Given the description of an element on the screen output the (x, y) to click on. 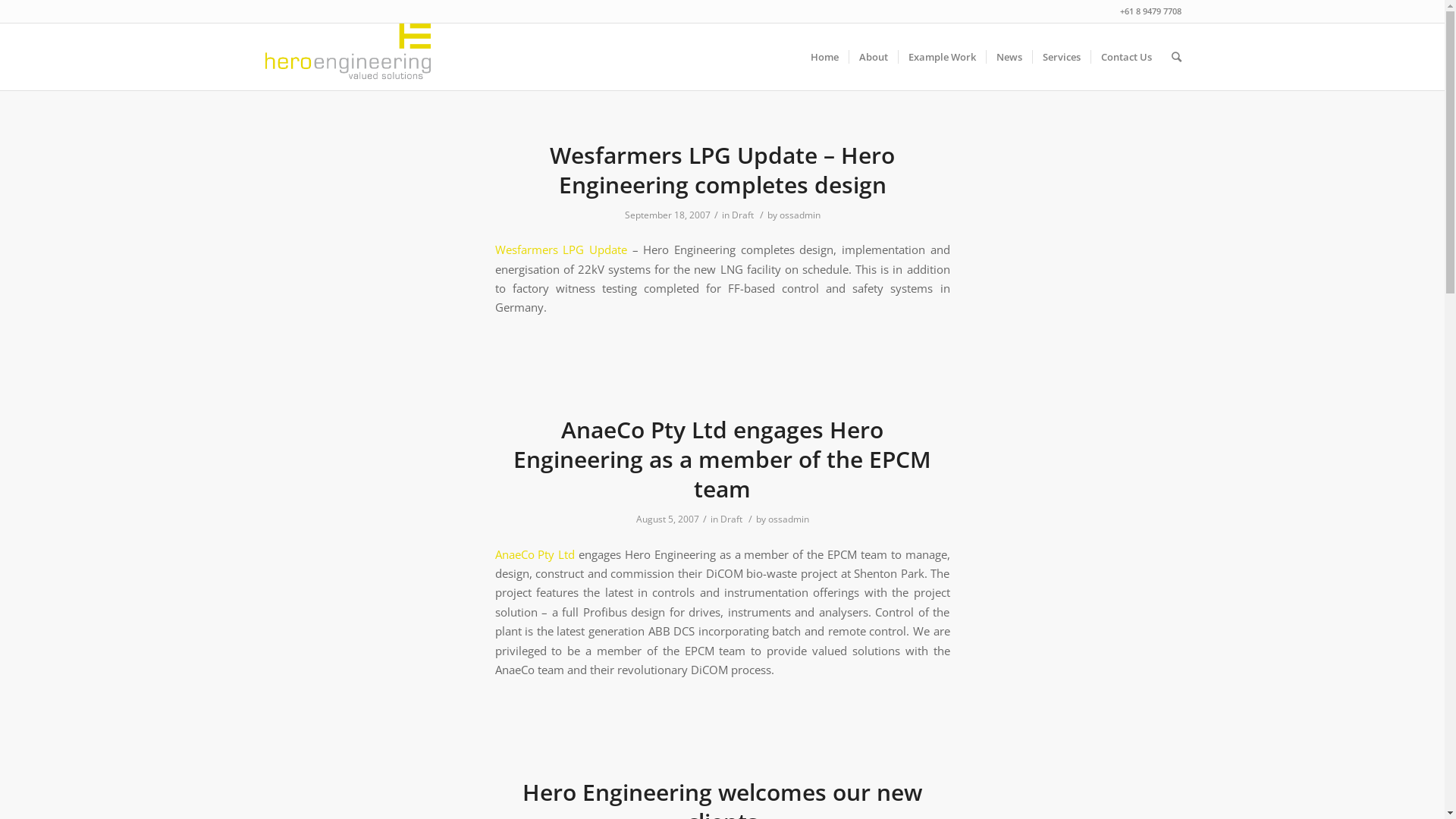
ossadmin Element type: text (787, 518)
News Element type: text (1008, 56)
Draft Element type: text (731, 518)
Contact Us Element type: text (1125, 56)
ossadmin Element type: text (799, 214)
AnaeCo Pty Ltd Element type: text (534, 553)
Services Element type: text (1060, 56)
Example Work Element type: text (941, 56)
Home Element type: text (824, 56)
About Element type: text (872, 56)
Draft Element type: text (742, 214)
Wesfarmers LPG Update Element type: text (560, 249)
